Given the description of an element on the screen output the (x, y) to click on. 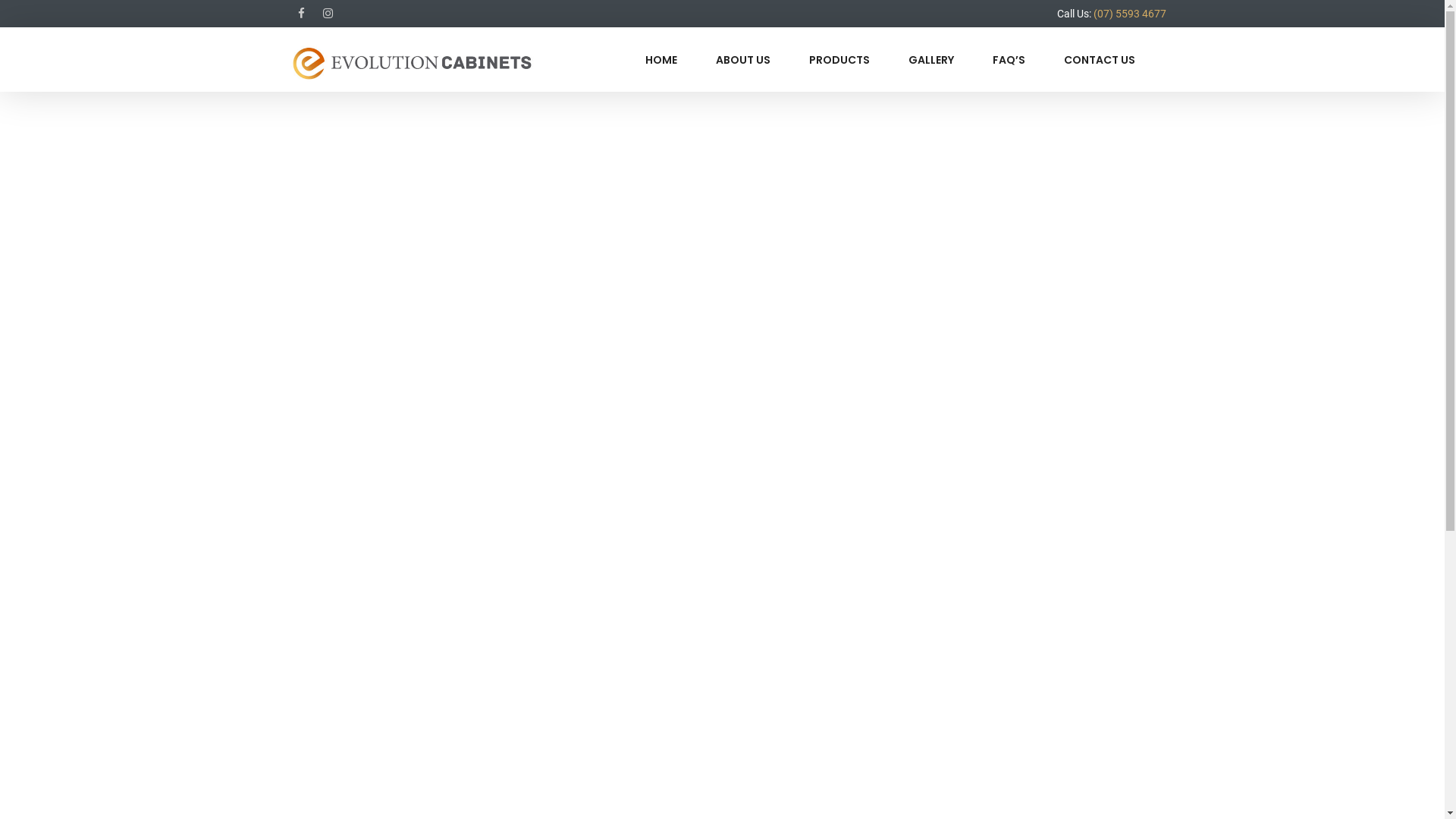
ABOUT US Element type: text (743, 59)
Gallery Element type: text (770, 662)
Products Element type: text (776, 612)
About Us Element type: text (776, 587)
07 5593 4677 Element type: text (564, 606)
PRODUCTS Element type: text (838, 59)
GALLERY Element type: text (930, 59)
HOME Element type: text (660, 59)
(07) 5593 4677 Element type: text (1129, 13)
Home Element type: text (768, 562)
CONTACT US Element type: text (1098, 59)
info@evolutioncabinets.com.au Element type: text (617, 632)
